Given the description of an element on the screen output the (x, y) to click on. 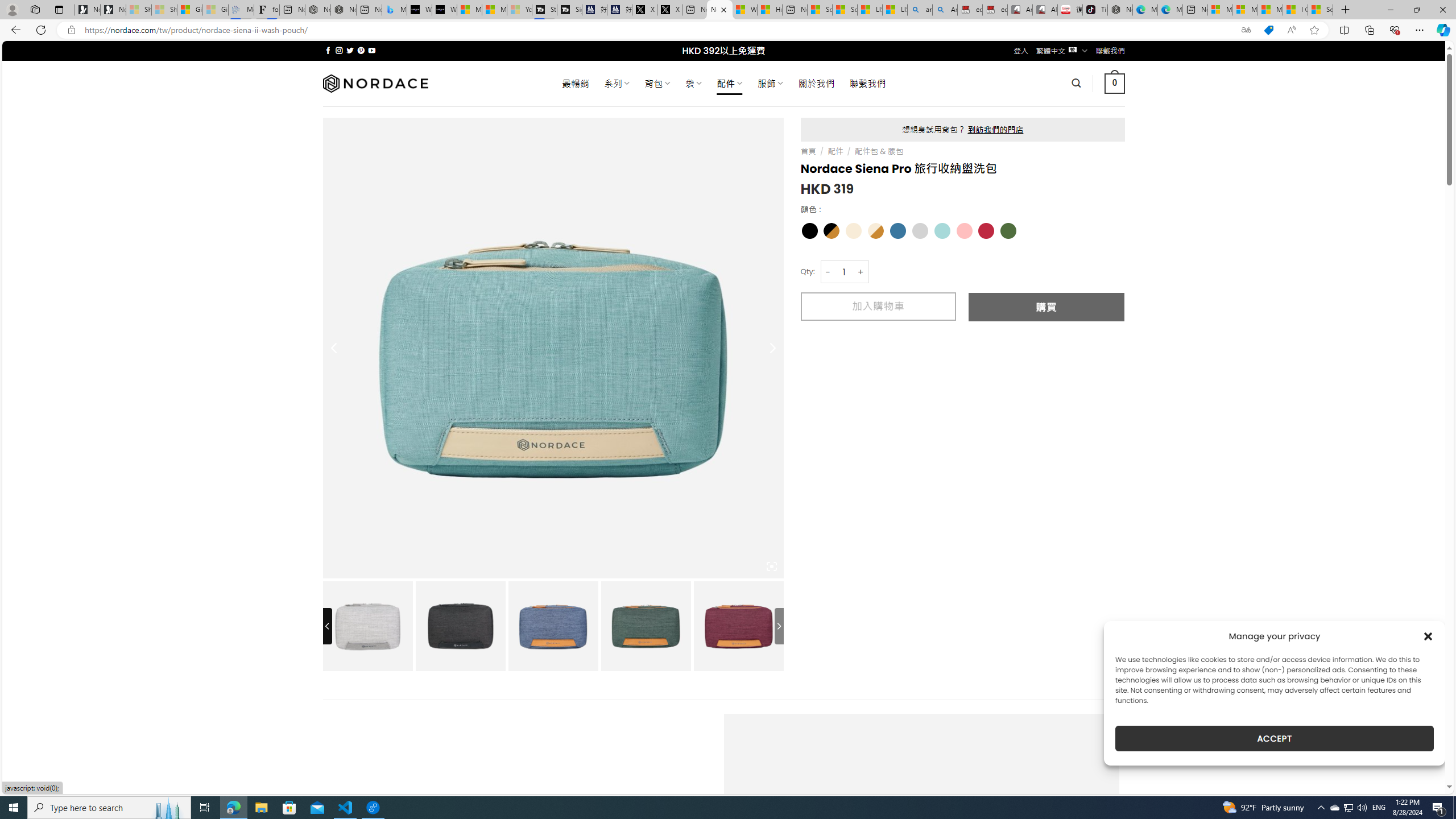
Follow on YouTube (371, 50)
